Given the description of an element on the screen output the (x, y) to click on. 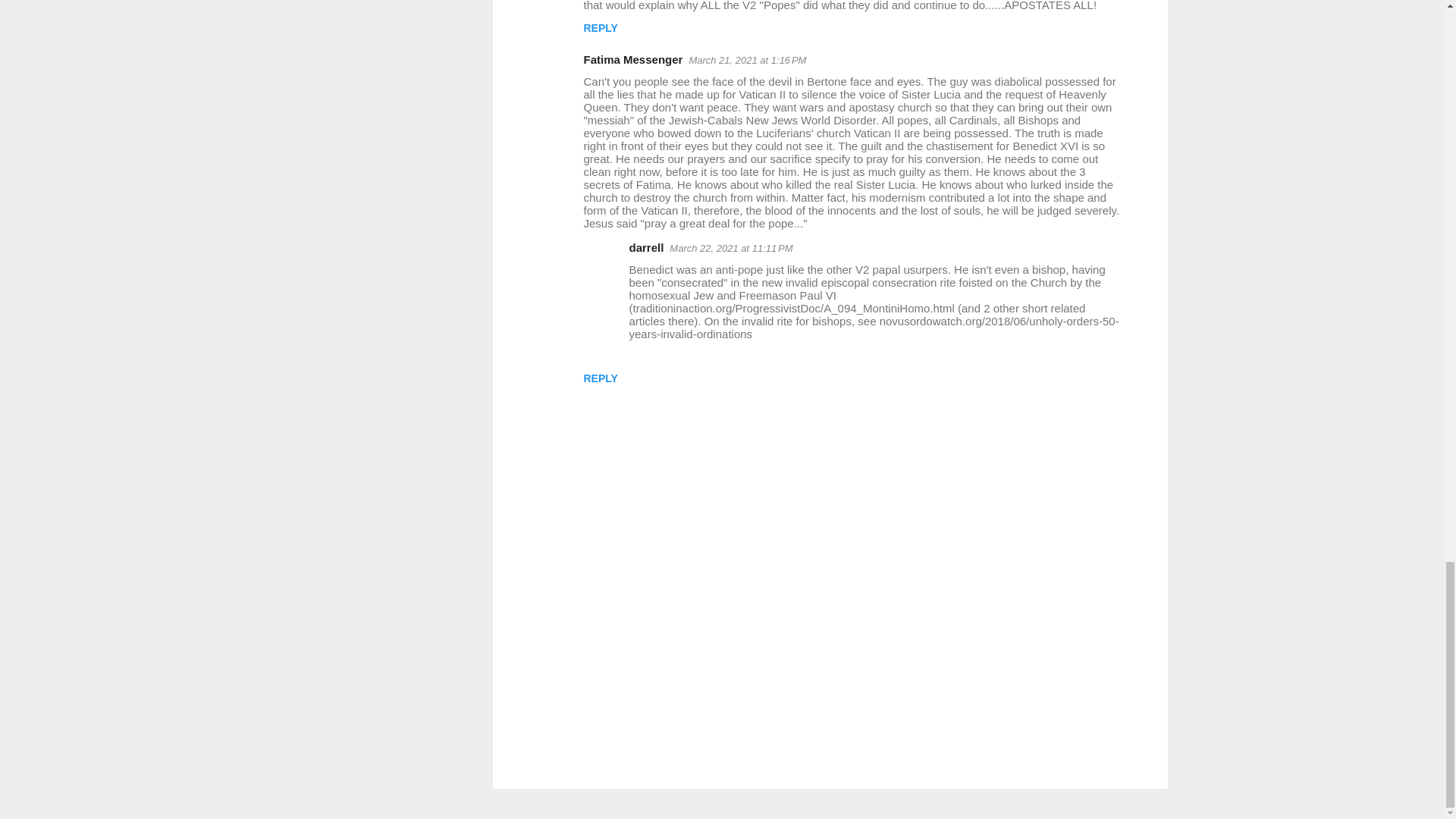
darrell (645, 246)
Fatima Messenger (632, 59)
REPLY (600, 378)
REPLY (600, 28)
